Given the description of an element on the screen output the (x, y) to click on. 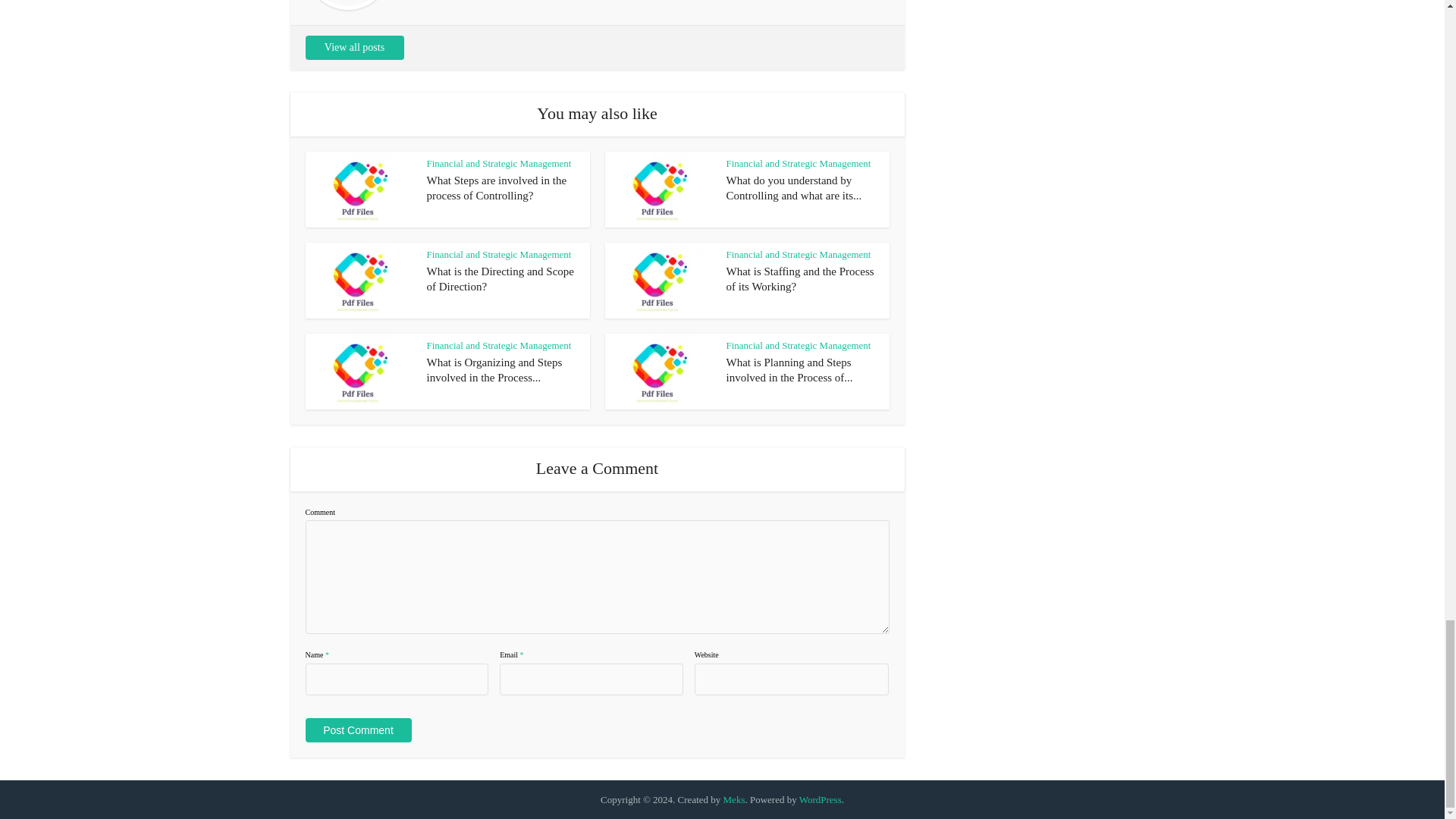
What is Organizing and Steps involved in the Process... (494, 370)
Post Comment (357, 730)
Financial and Strategic Management (498, 163)
What is Staffing and the Process of its Working? (800, 278)
Financial and Strategic Management (798, 254)
What Steps are involved in the process of Controlling? (496, 187)
Financial and Strategic Management (498, 254)
What is Staffing and the Process of its Working? (800, 278)
Post Comment (357, 730)
Financial and Strategic Management (798, 163)
